Given the description of an element on the screen output the (x, y) to click on. 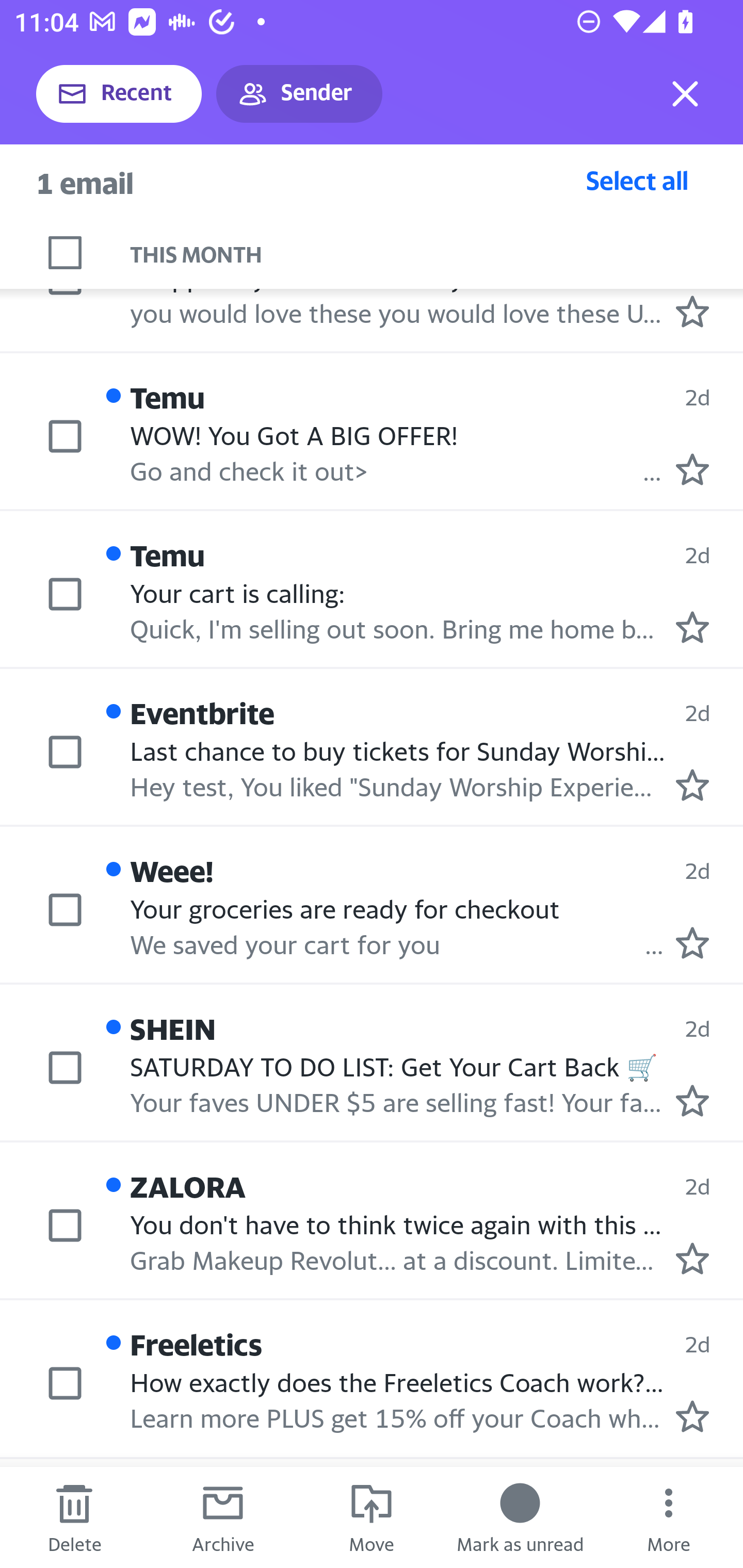
Sender (299, 93)
Exit selection mode (684, 93)
Select all (637, 180)
Mark as starred. (692, 311)
Mark as starred. (692, 469)
Mark as starred. (692, 627)
Mark as starred. (692, 784)
Mark as starred. (692, 943)
Mark as starred. (692, 1099)
Mark as starred. (692, 1258)
Mark as starred. (692, 1416)
Delete (74, 1517)
Archive (222, 1517)
Move (371, 1517)
Mark as unread (519, 1517)
More (668, 1517)
